Given the description of an element on the screen output the (x, y) to click on. 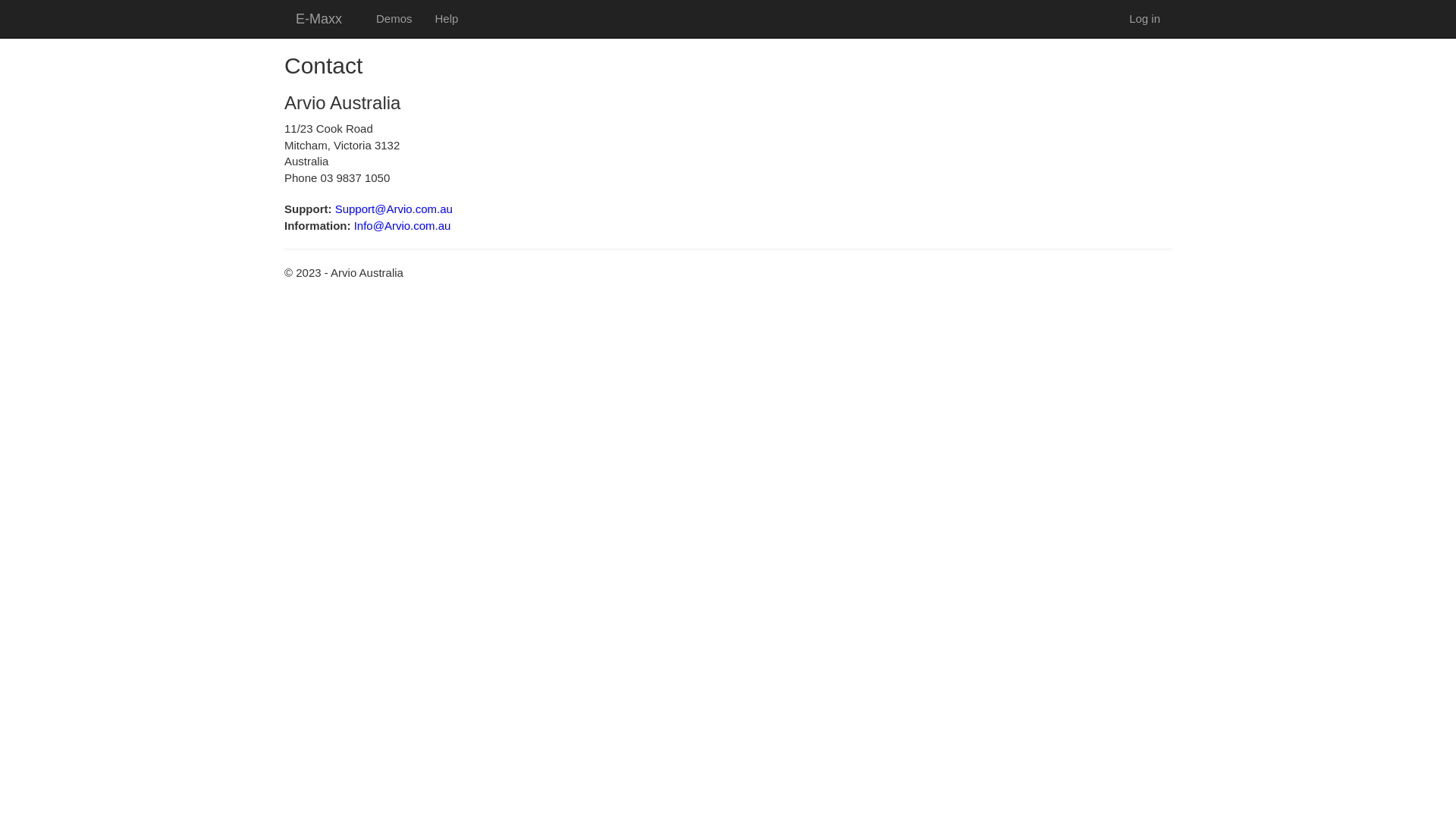
E-Maxx Element type: text (318, 18)
Info@Arvio.com.au Element type: text (402, 224)
Demos Element type: text (393, 18)
Support@Arvio.com.au Element type: text (393, 208)
Log in Element type: text (1144, 18)
Help Element type: text (446, 18)
